Given the description of an element on the screen output the (x, y) to click on. 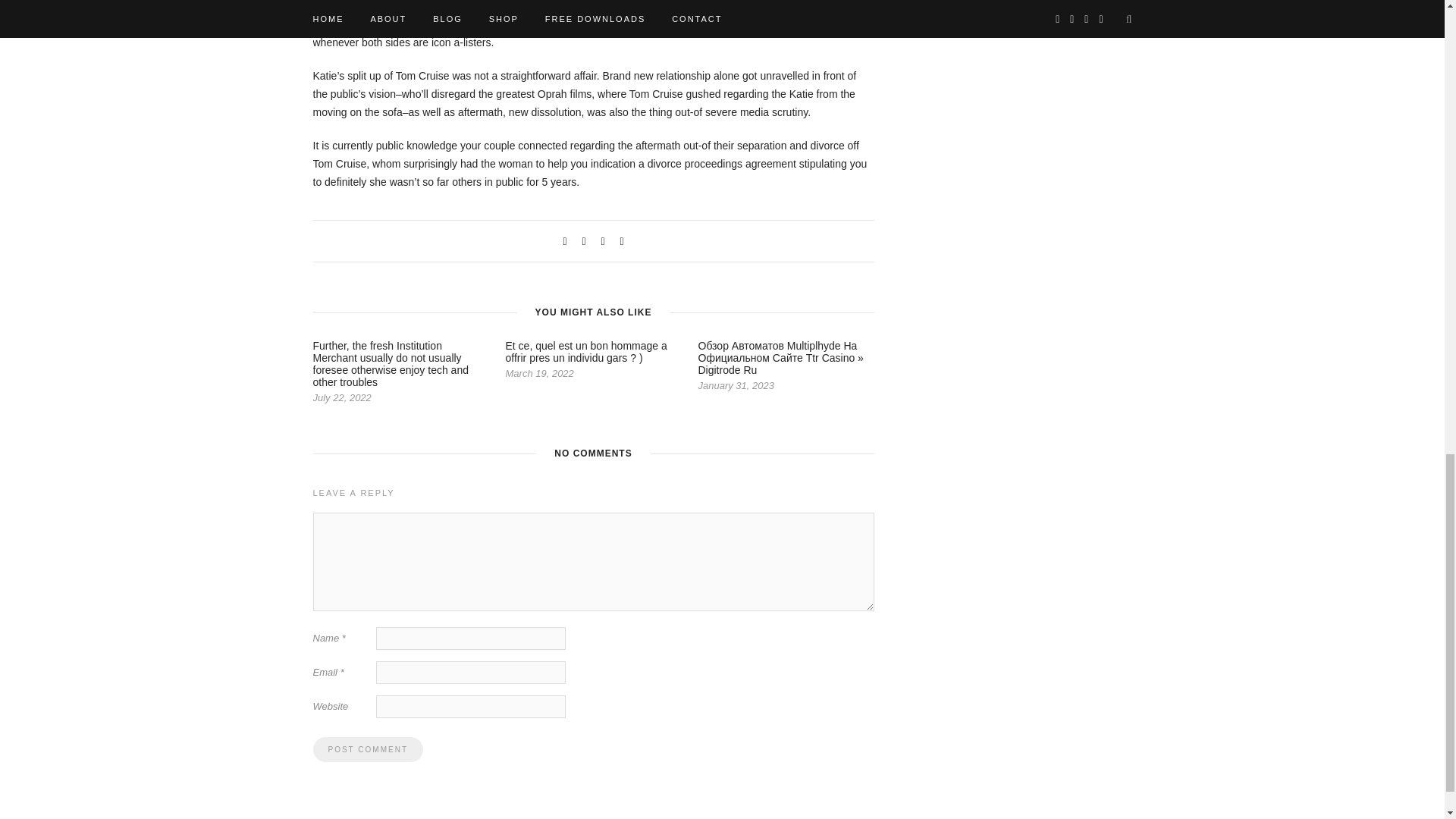
Post Comment (367, 749)
Post Comment (367, 749)
